Given the description of an element on the screen output the (x, y) to click on. 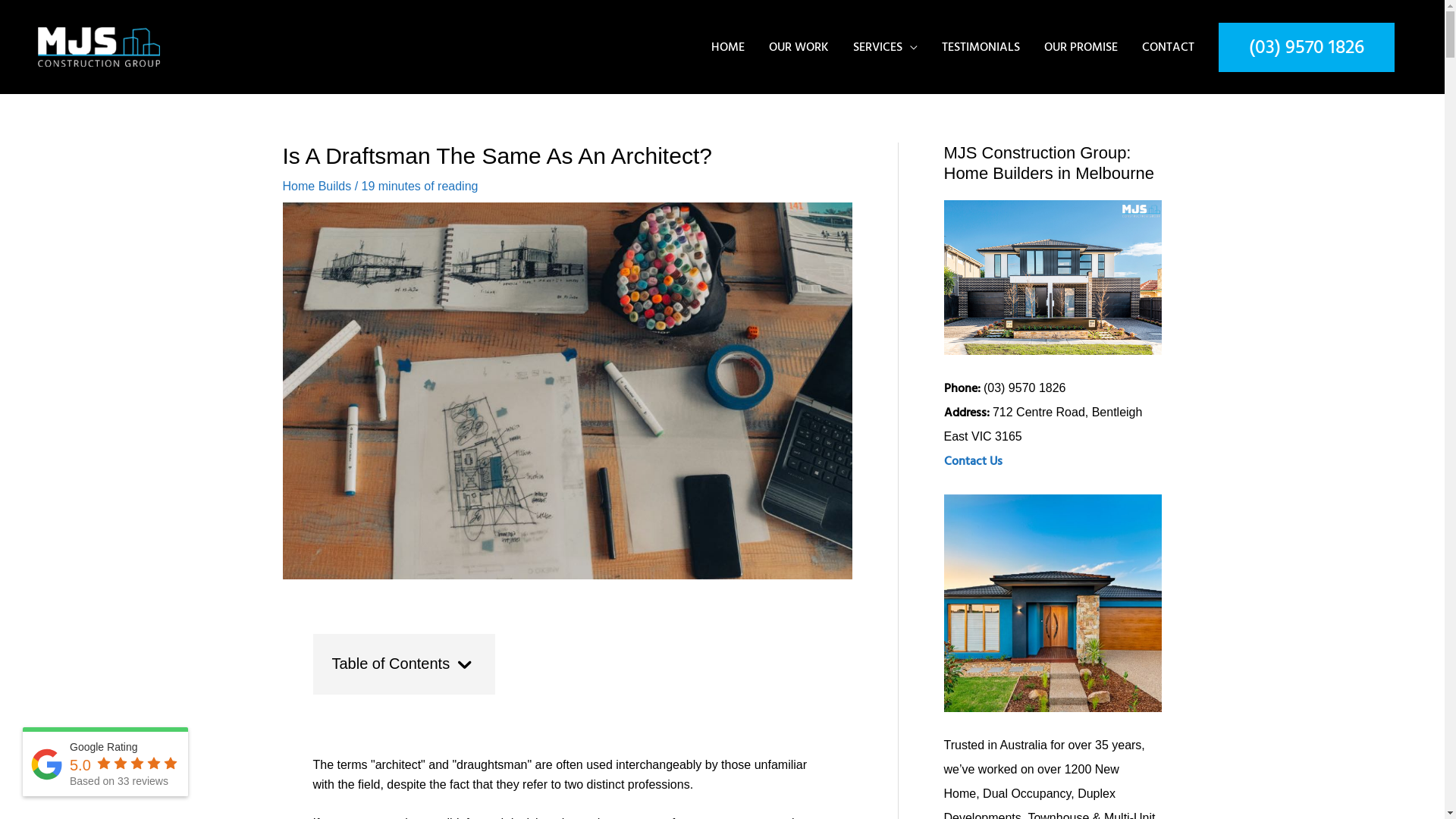
OUR PROMISE Element type: text (1080, 46)
TESTIMONIALS Element type: text (980, 46)
Contact Us Element type: text (972, 460)
Home Builds Element type: text (316, 185)
CONTACT Element type: text (1167, 46)
(03) 9570 1826 Element type: text (1306, 47)
OUR WORK Element type: text (798, 46)
SERVICES Element type: text (884, 46)
HOME Element type: text (727, 46)
